Given the description of an element on the screen output the (x, y) to click on. 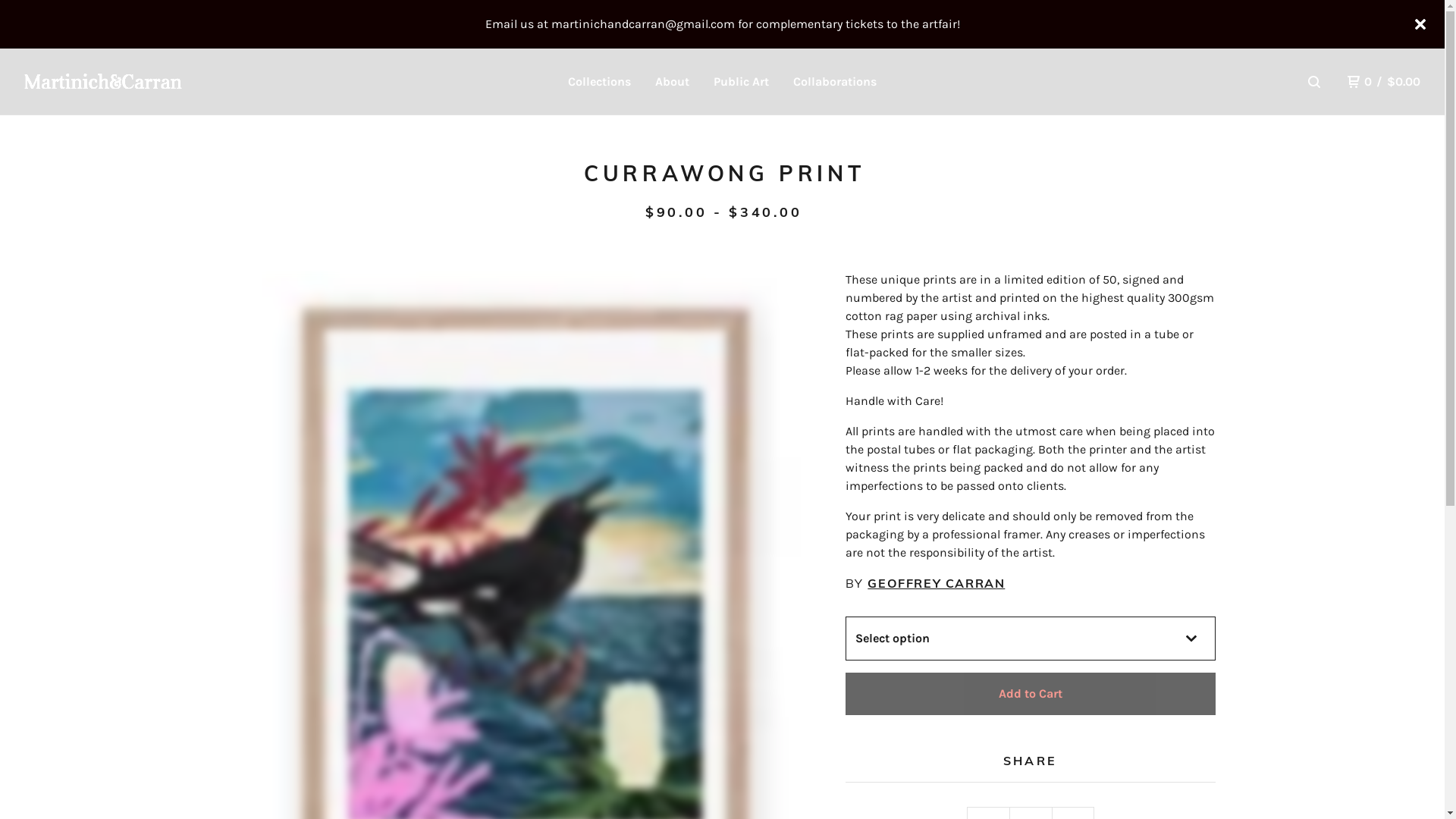
Collections Element type: text (598, 81)
Martinich&Carran Element type: hover (103, 81)
GEOFFREY CARRAN Element type: text (935, 582)
Add to Cart Element type: text (1029, 693)
About Element type: text (672, 81)
0
/
$0.00 Element type: text (1383, 81)
Public Art Element type: text (740, 81)
Close announcement message Element type: hover (1420, 24)
Collaborations Element type: text (834, 81)
